Given the description of an element on the screen output the (x, y) to click on. 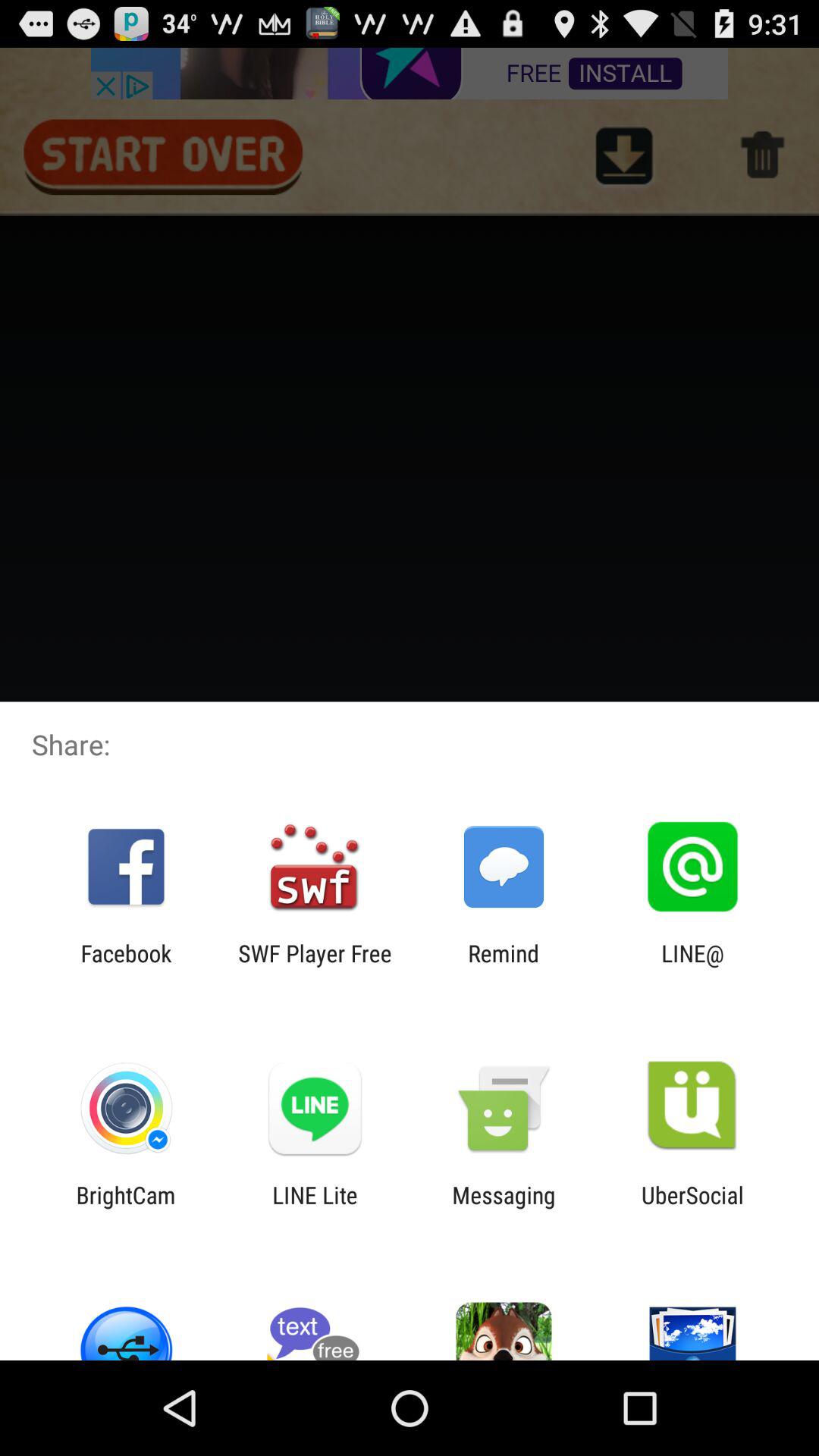
press the item next to messaging icon (314, 1208)
